Given the description of an element on the screen output the (x, y) to click on. 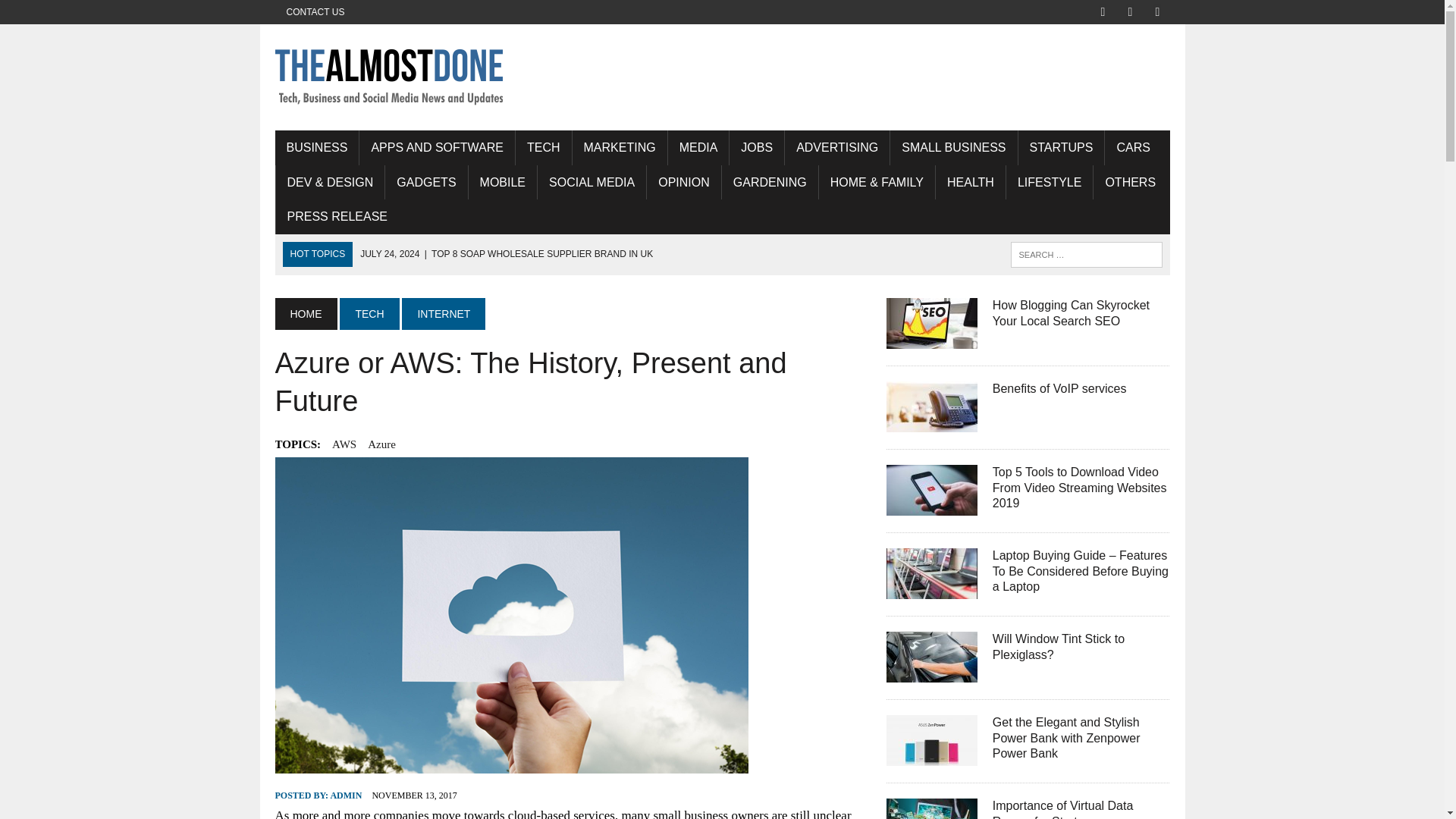
How Blogging Can Skyrocket Your Local Search SEO (1071, 312)
How Blogging Can Skyrocket Your Local Search SEO (931, 338)
HEALTH (971, 182)
GADGETS (426, 182)
SMALL BUSINESS (952, 147)
PRESS RELEASE (337, 216)
SOCIAL MEDIA (591, 182)
MARKETING (619, 147)
JOBS (756, 147)
Top 8 Soap Wholesale Supplier Brand in UK (505, 253)
ADVERTISING (836, 147)
TECH (543, 147)
MOBILE (502, 182)
MEDIA (698, 147)
CONTACT US (315, 12)
